Given the description of an element on the screen output the (x, y) to click on. 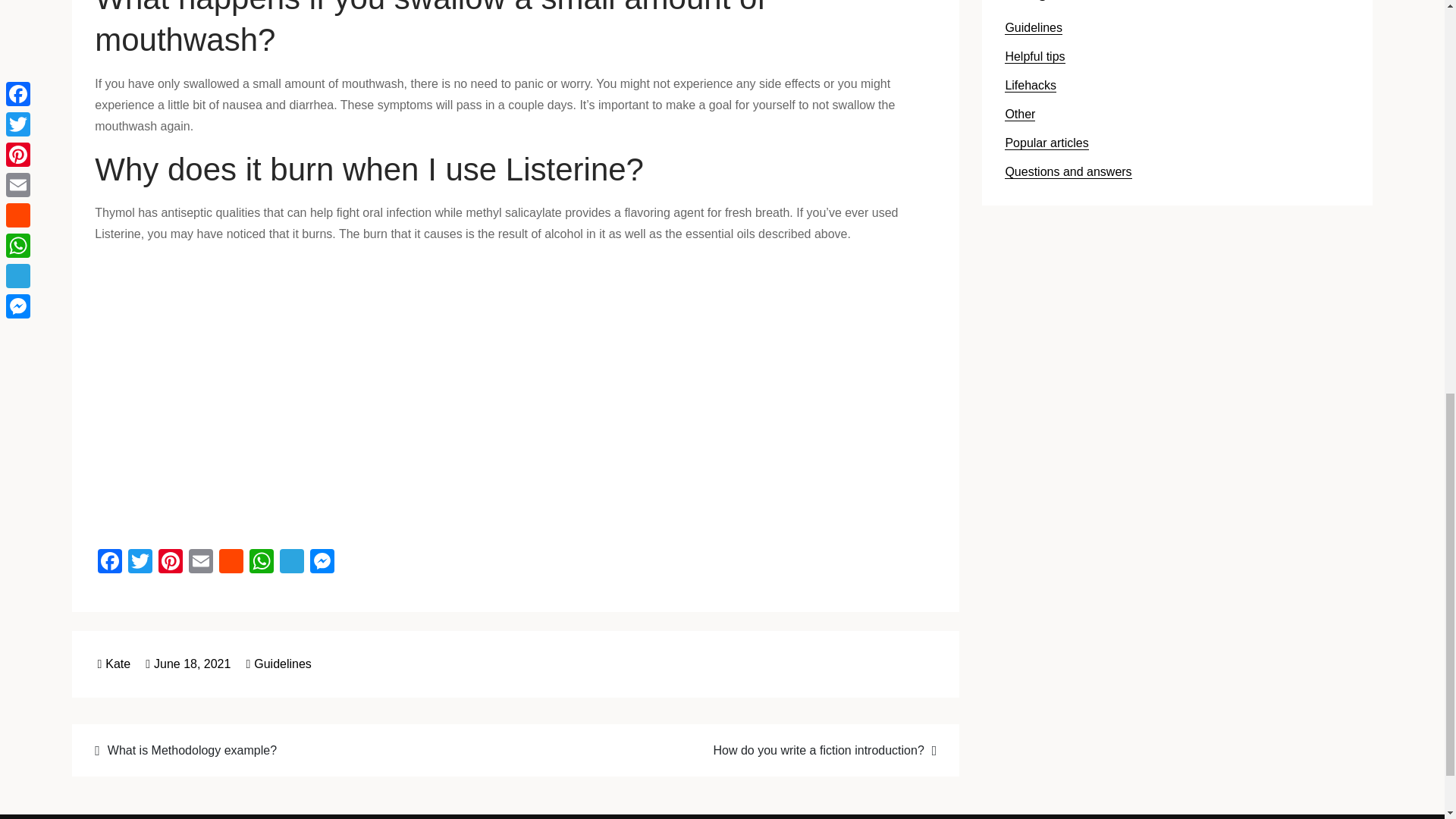
What is Methodology example? (295, 750)
Reddit (230, 562)
Messenger (322, 562)
WhatsApp (261, 562)
Telegram (291, 562)
June 18, 2021 (187, 663)
WhatsApp (261, 562)
The Untold Truth Of Listerine (336, 393)
Email (200, 562)
Guidelines (282, 663)
Messenger (322, 562)
Pinterest (170, 562)
Kate (114, 663)
Twitter (140, 562)
Pinterest (170, 562)
